Given the description of an element on the screen output the (x, y) to click on. 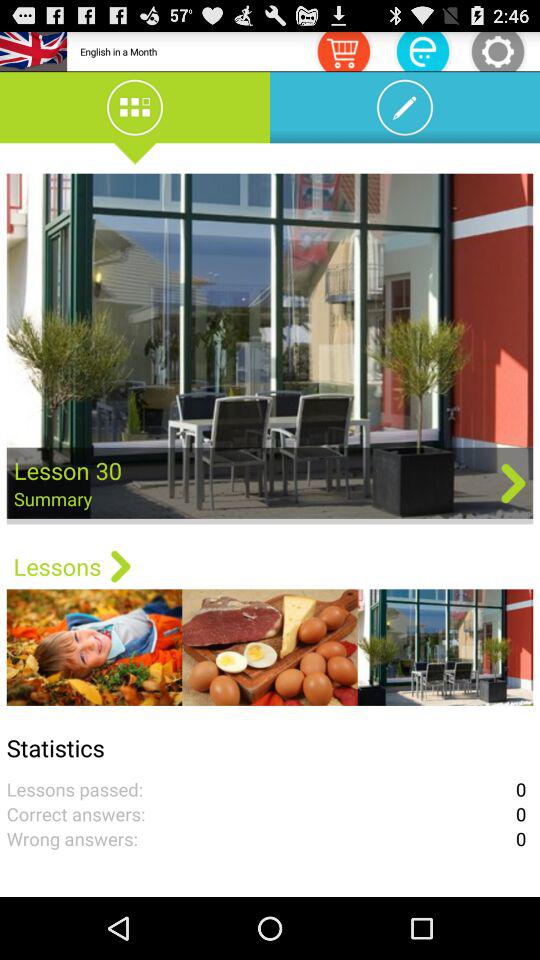
view shopping cart (343, 50)
